Given the description of an element on the screen output the (x, y) to click on. 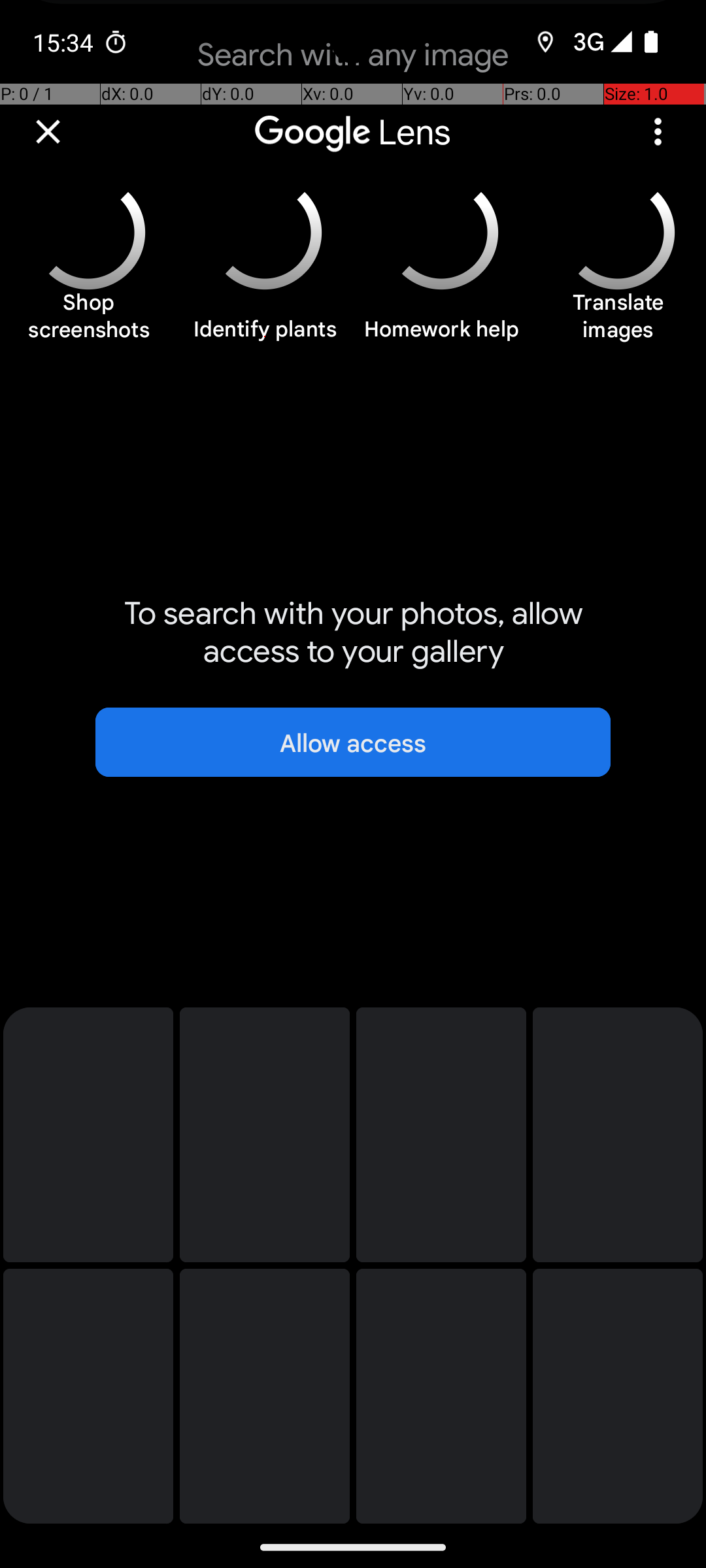
Search with any image Element type: android.widget.TextView (353, 64)
Shop screenshots Element type: android.widget.TextView (88, 322)
Identify plants Element type: android.widget.TextView (264, 335)
Homework help Element type: android.widget.TextView (441, 335)
Translate images Element type: android.widget.TextView (617, 322)
To search with your photos, allow access to your gallery Element type: android.widget.TextView (352, 631)
Allow access Element type: android.widget.Button (352, 742)
